Given the description of an element on the screen output the (x, y) to click on. 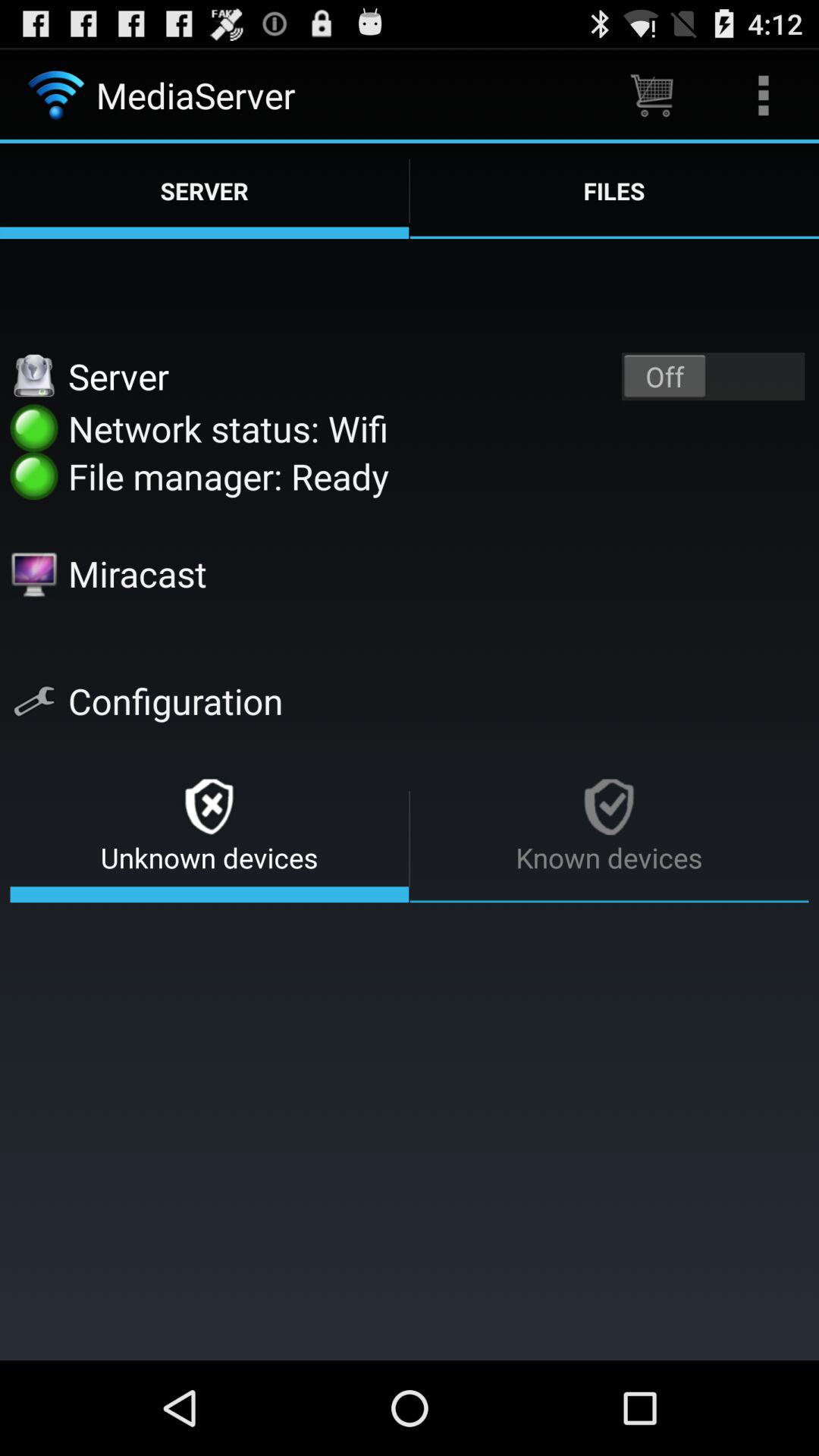
click the item next to mediaserver app (651, 95)
